Given the description of an element on the screen output the (x, y) to click on. 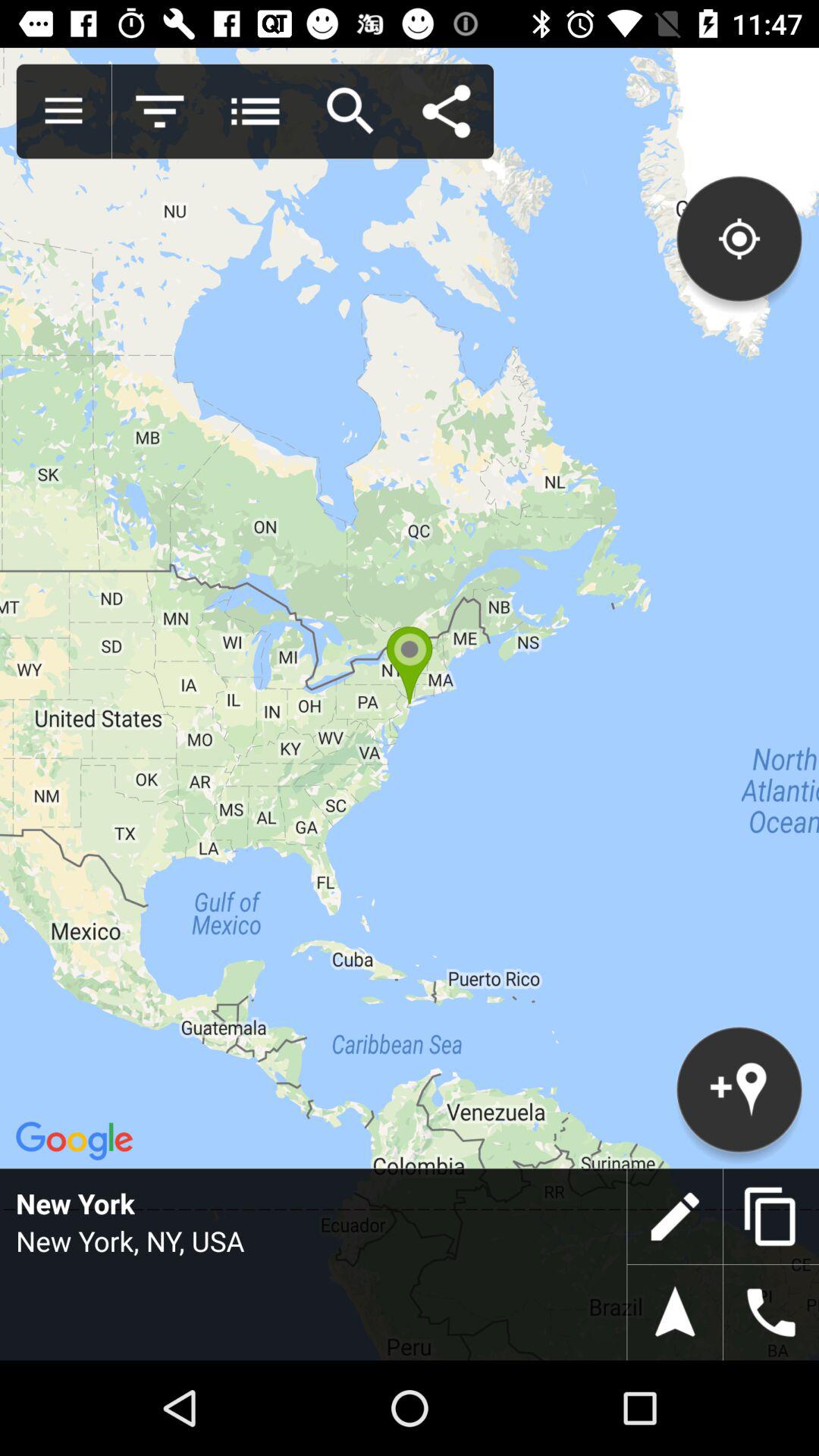
switch to call option (771, 1312)
